Given the description of an element on the screen output the (x, y) to click on. 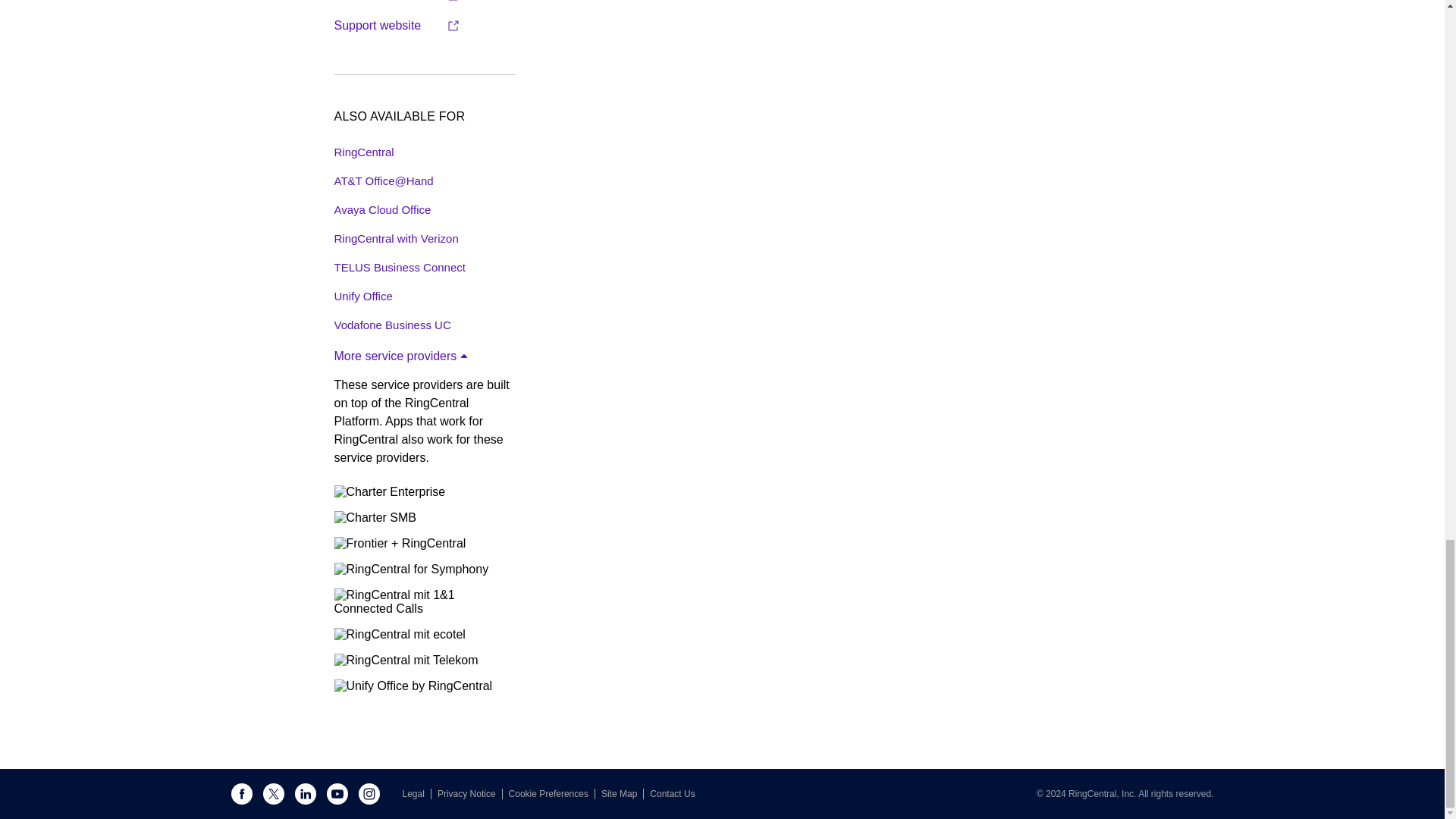
Support website (395, 25)
RingCentral with Verizon (395, 237)
TELUS Business Connect (398, 267)
Publisher website (395, 2)
RingCentral (363, 151)
Vodafone Business UC (391, 324)
More service providers (402, 356)
Unify Office (362, 295)
Avaya Cloud Office (381, 209)
